Given the description of an element on the screen output the (x, y) to click on. 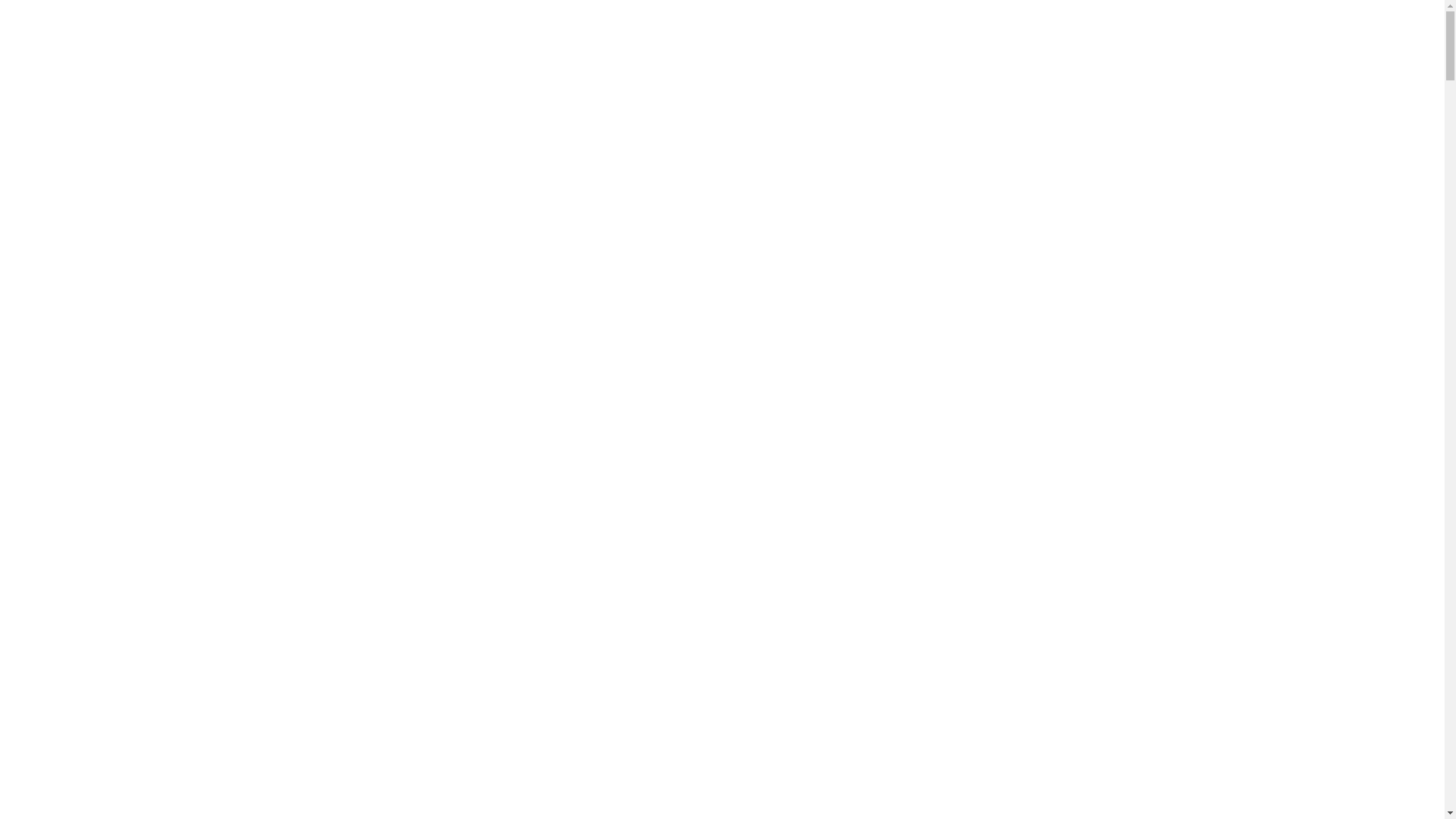
1000+ Stain Remover - Go Reusable Element type: hover (722, 406)
